Given the description of an element on the screen output the (x, y) to click on. 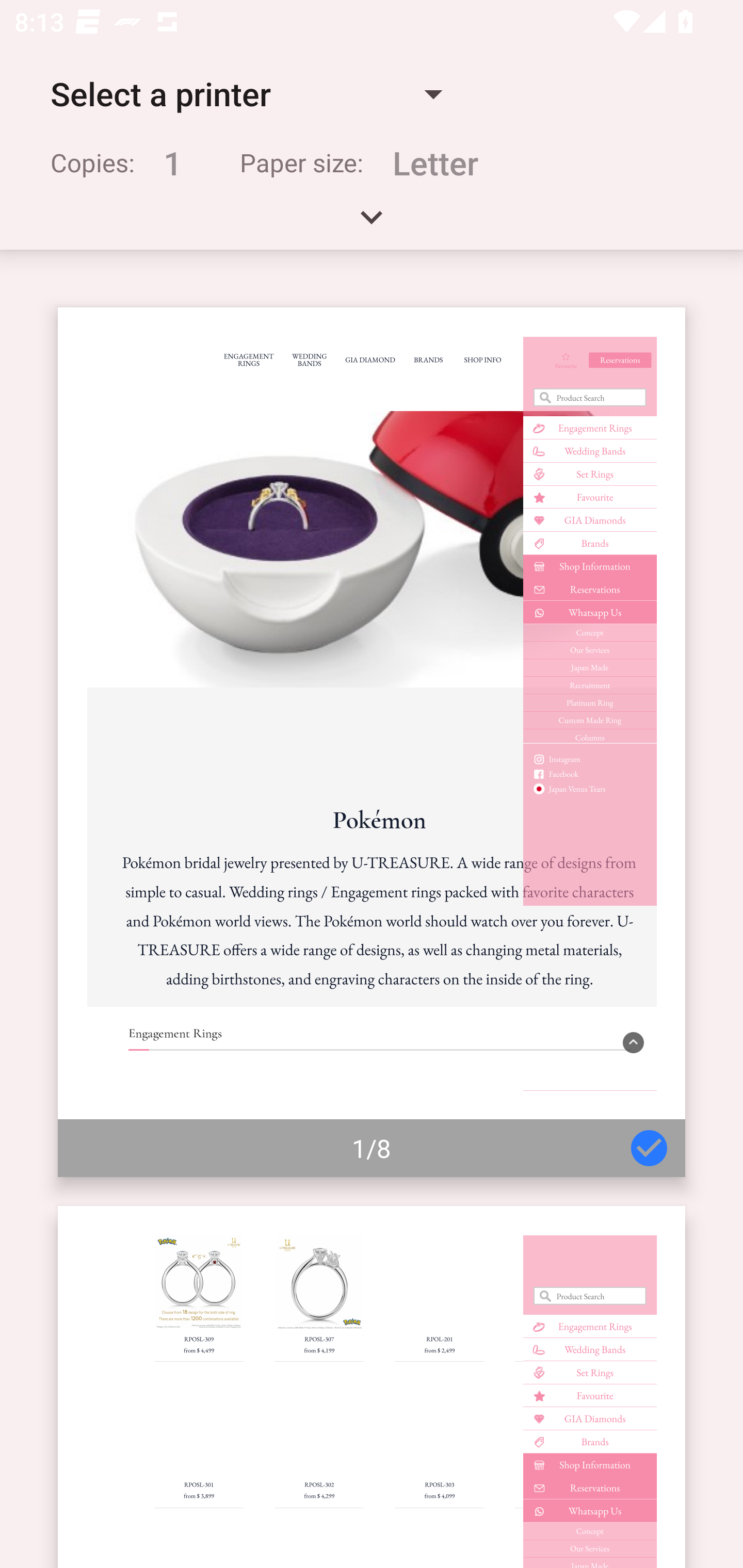
Select a printer (245, 93)
Expand handle (371, 224)
Page 1 of 8 1/8 (371, 742)
Page 2 of 8 (371, 1386)
